Given the description of an element on the screen output the (x, y) to click on. 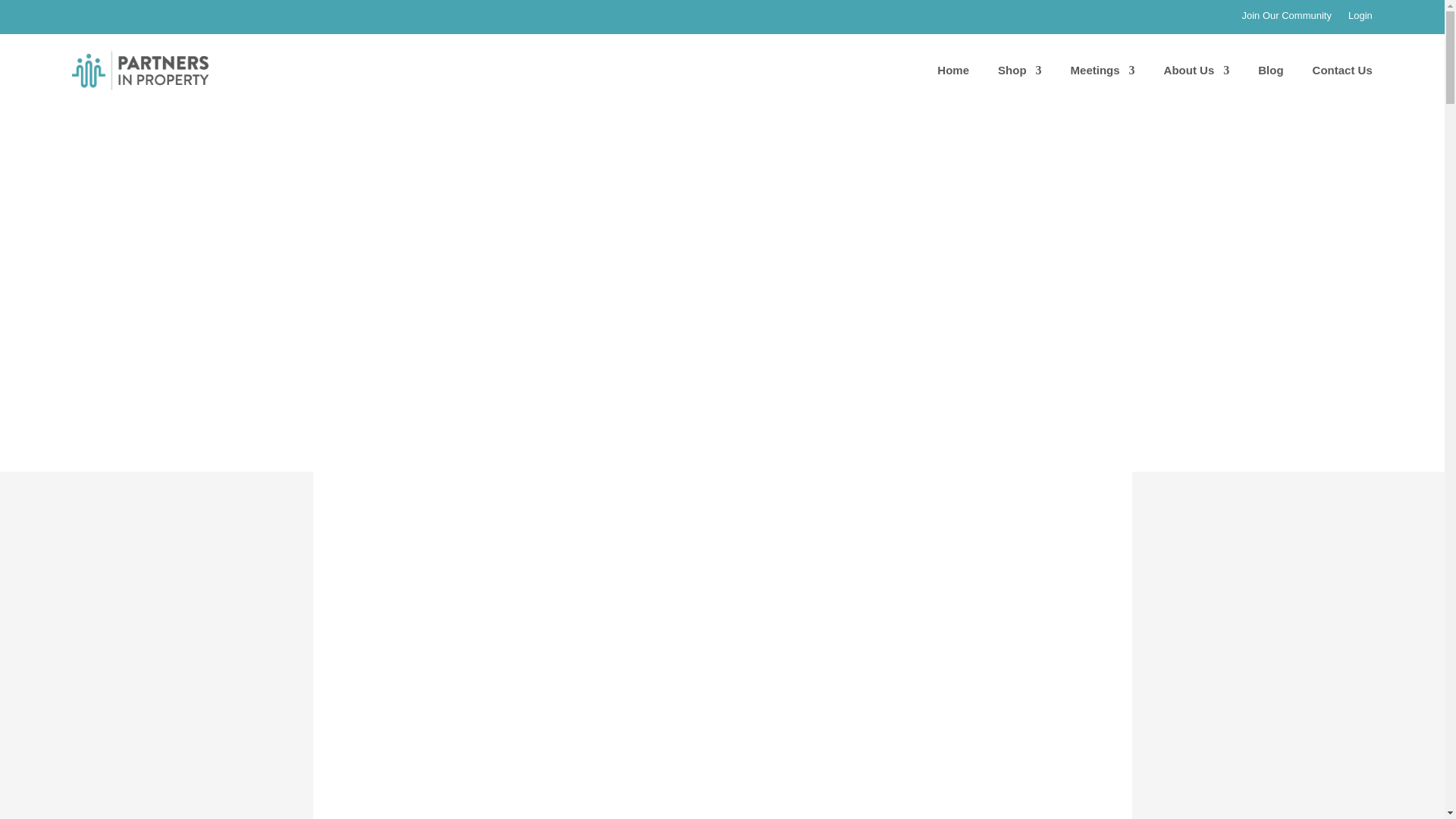
Login (1360, 18)
Contact Us (1343, 70)
About Us (1196, 70)
Meetings (1102, 70)
Join Our Community (1285, 18)
